Given the description of an element on the screen output the (x, y) to click on. 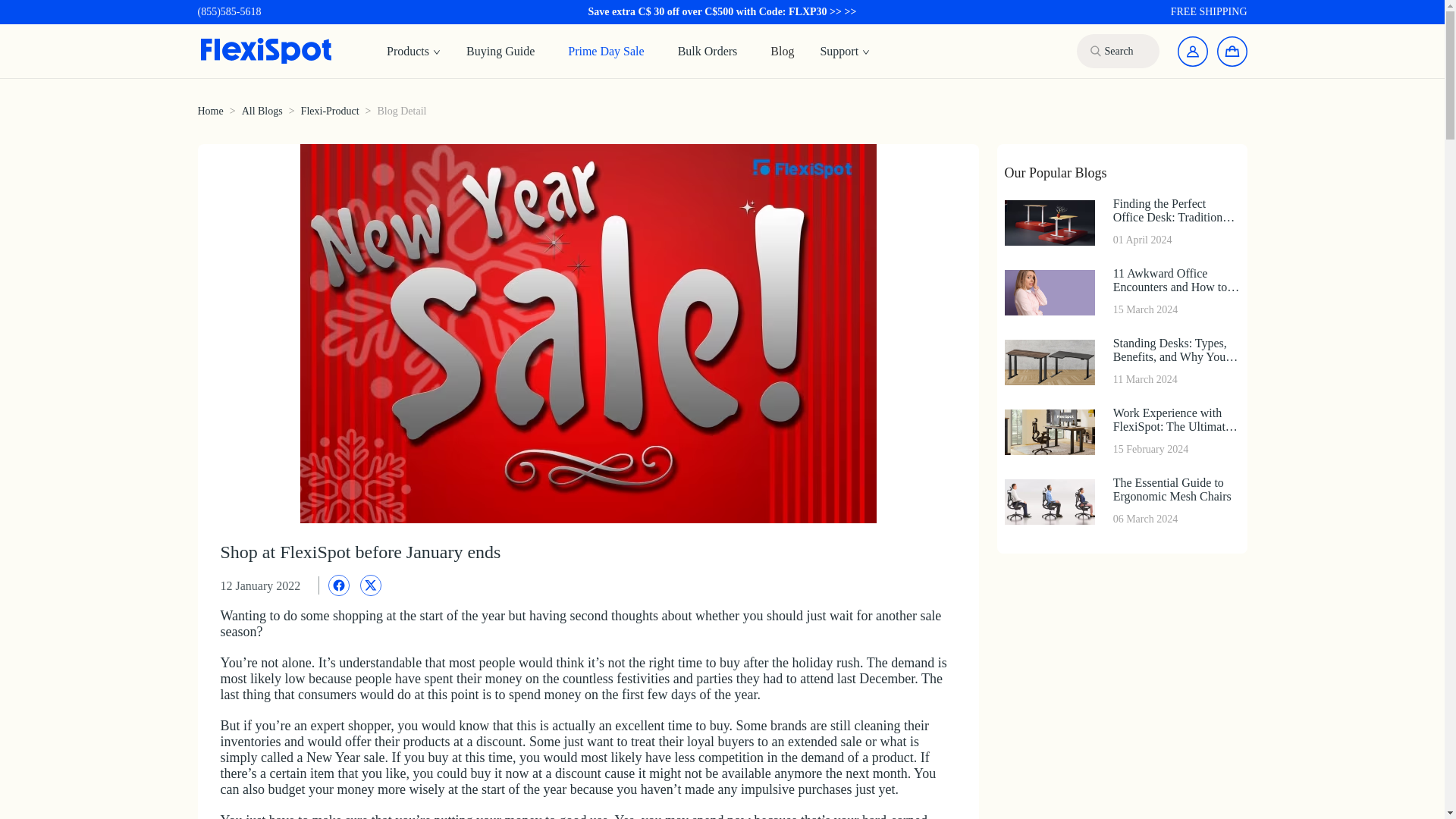
Flexi-Product (330, 111)
Prime Day Sale (605, 50)
Buying Guide (499, 50)
Home (1121, 501)
Products (209, 111)
Bulk Orders (413, 51)
All Blogs (707, 50)
Blog (261, 111)
